Given the description of an element on the screen output the (x, y) to click on. 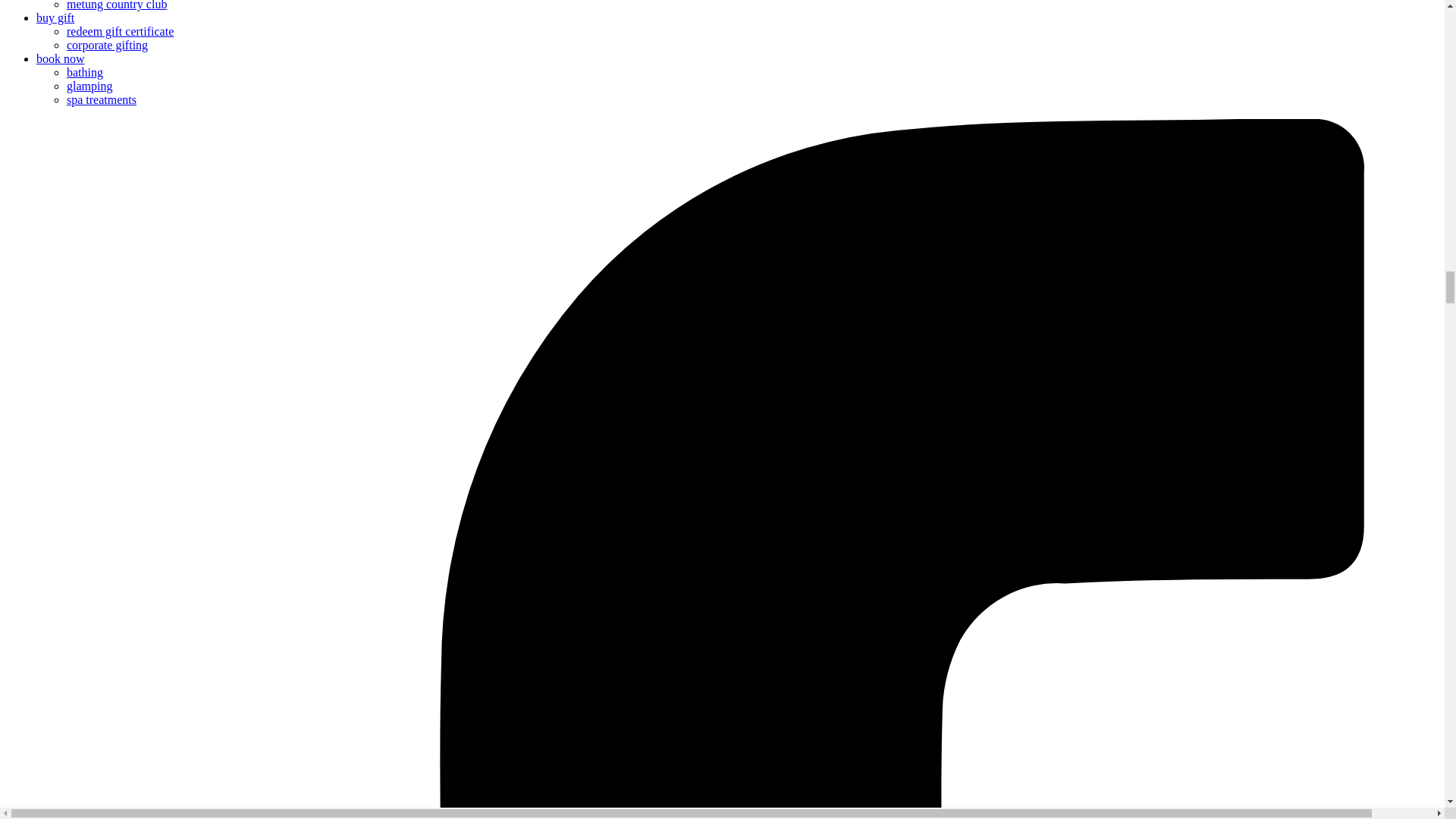
spa treatments (101, 99)
metung country club (116, 5)
buy gift (55, 17)
redeem gift certificate (119, 31)
glamping (89, 85)
bathing (84, 72)
book now (60, 58)
corporate gifting (107, 44)
